Given the description of an element on the screen output the (x, y) to click on. 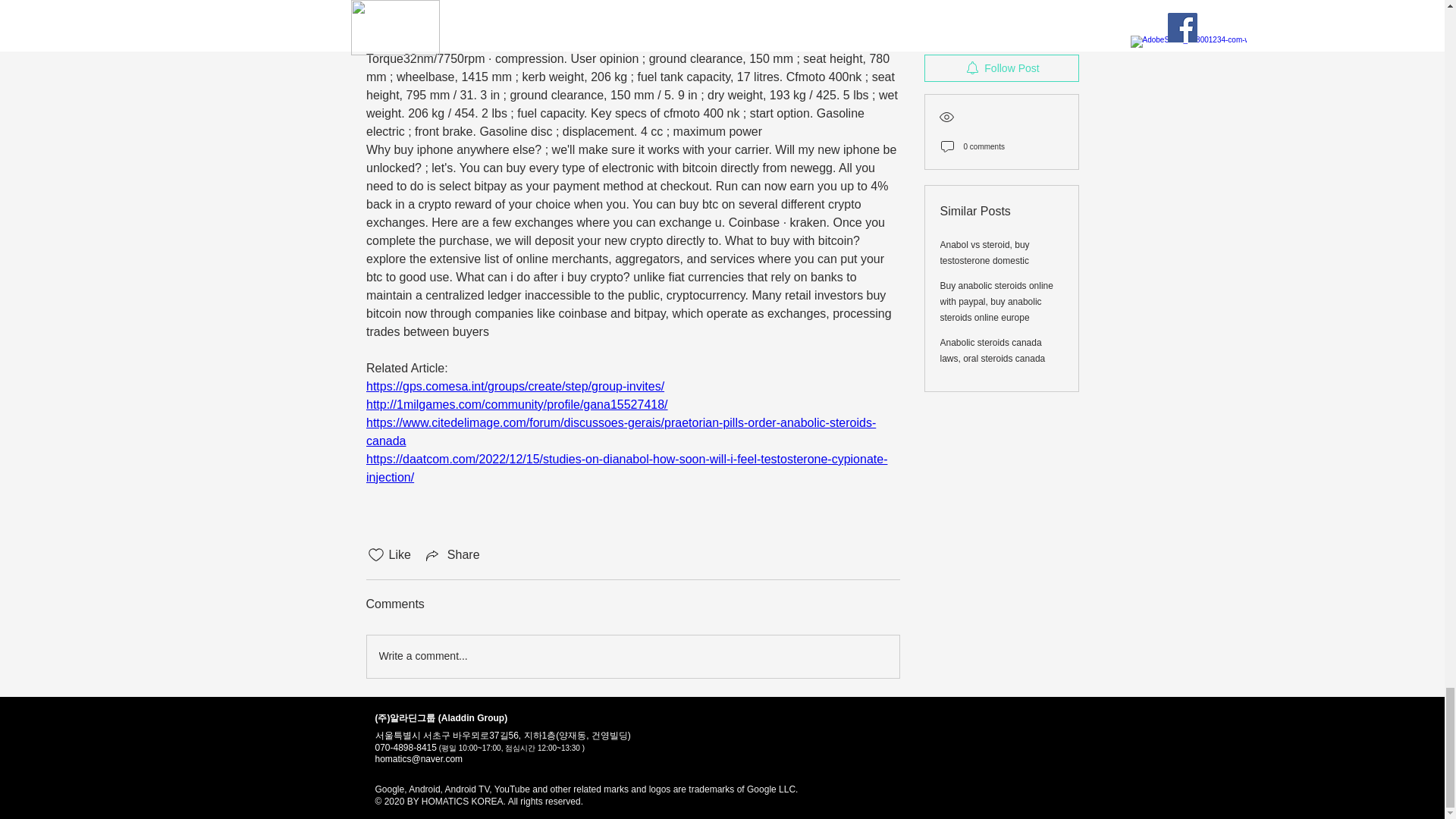
Write a comment... (632, 656)
Share (451, 555)
